Given the description of an element on the screen output the (x, y) to click on. 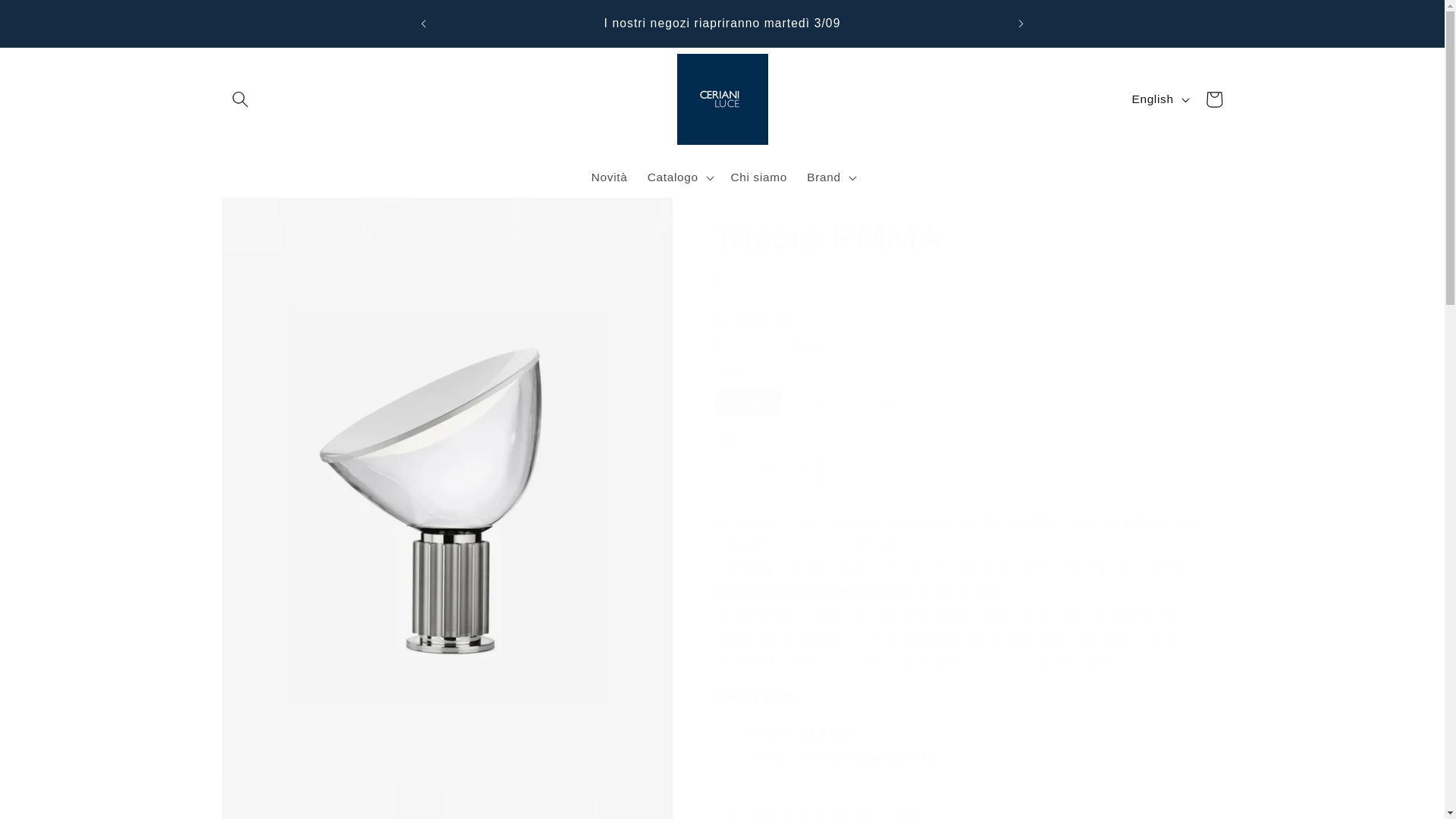
1 (768, 470)
Skip to content (50, 19)
